Given the description of an element on the screen output the (x, y) to click on. 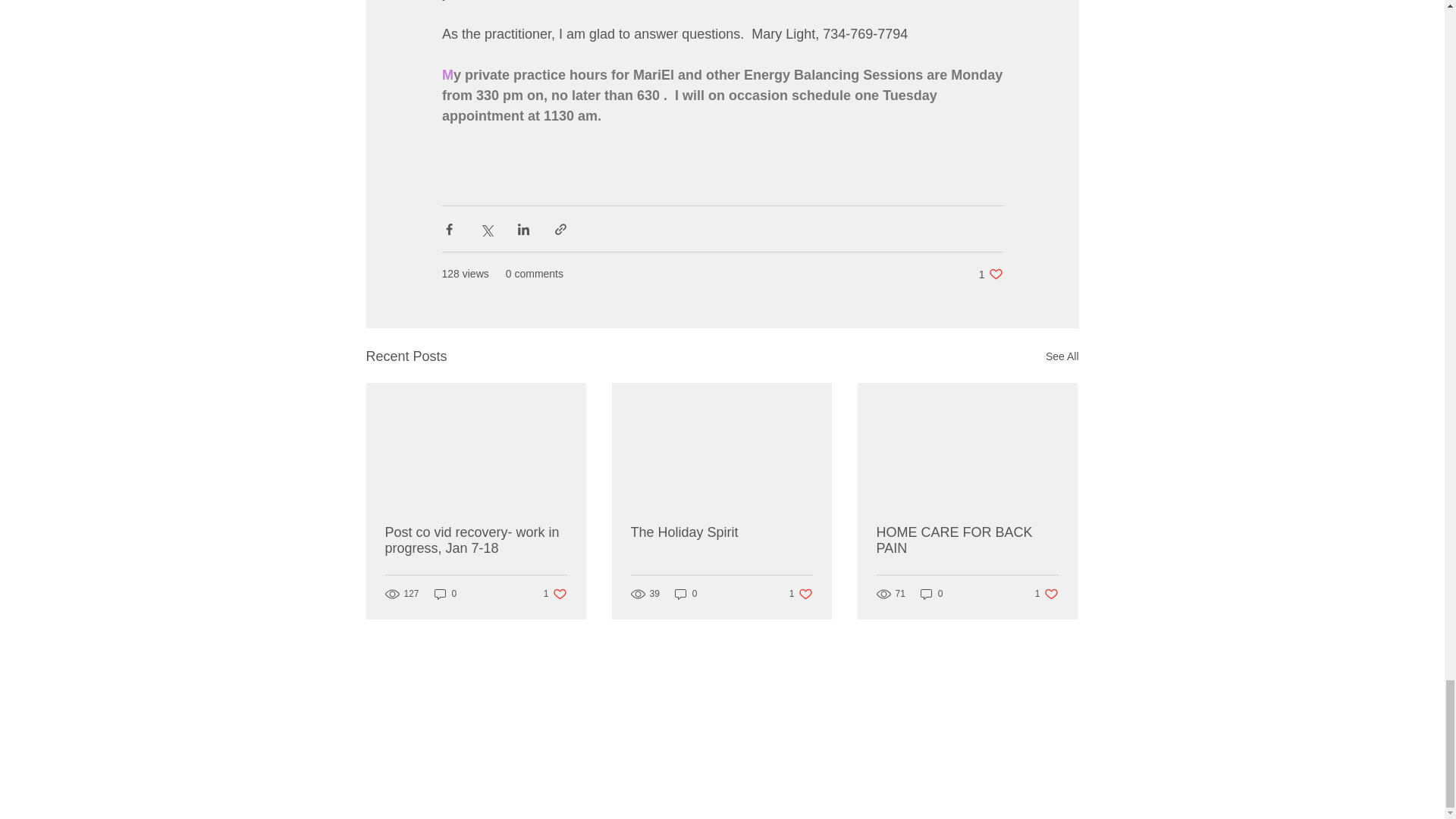
Post co vid recovery- work in progress, Jan 7-18 (476, 540)
See All (990, 273)
HOME CARE FOR BACK PAIN (1061, 356)
0 (967, 540)
0 (445, 594)
0 (931, 594)
